Given the description of an element on the screen output the (x, y) to click on. 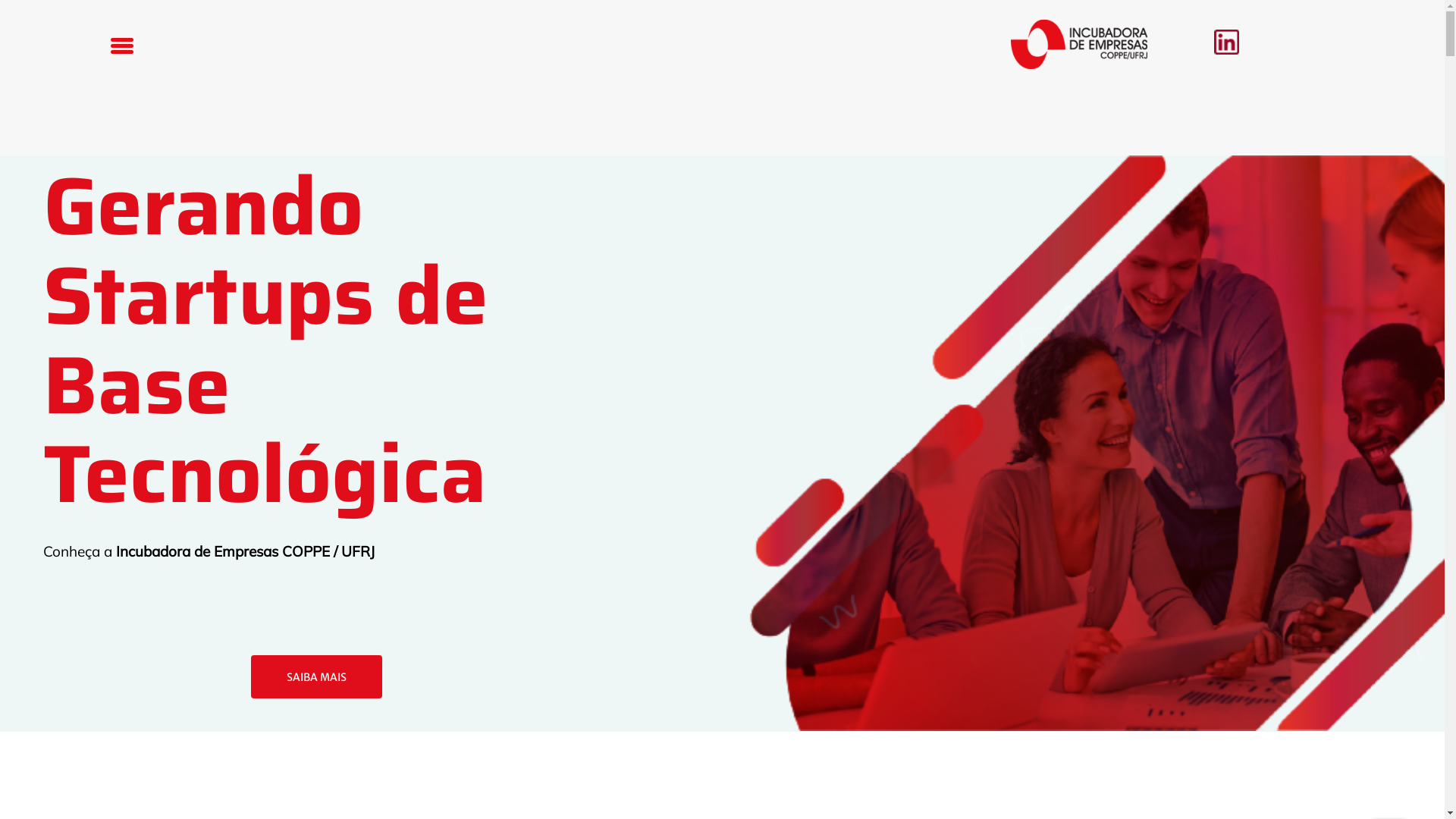
SAIBA MAIS Element type: text (316, 677)
SAIBA MAIS Element type: text (316, 677)
